Given the description of an element on the screen output the (x, y) to click on. 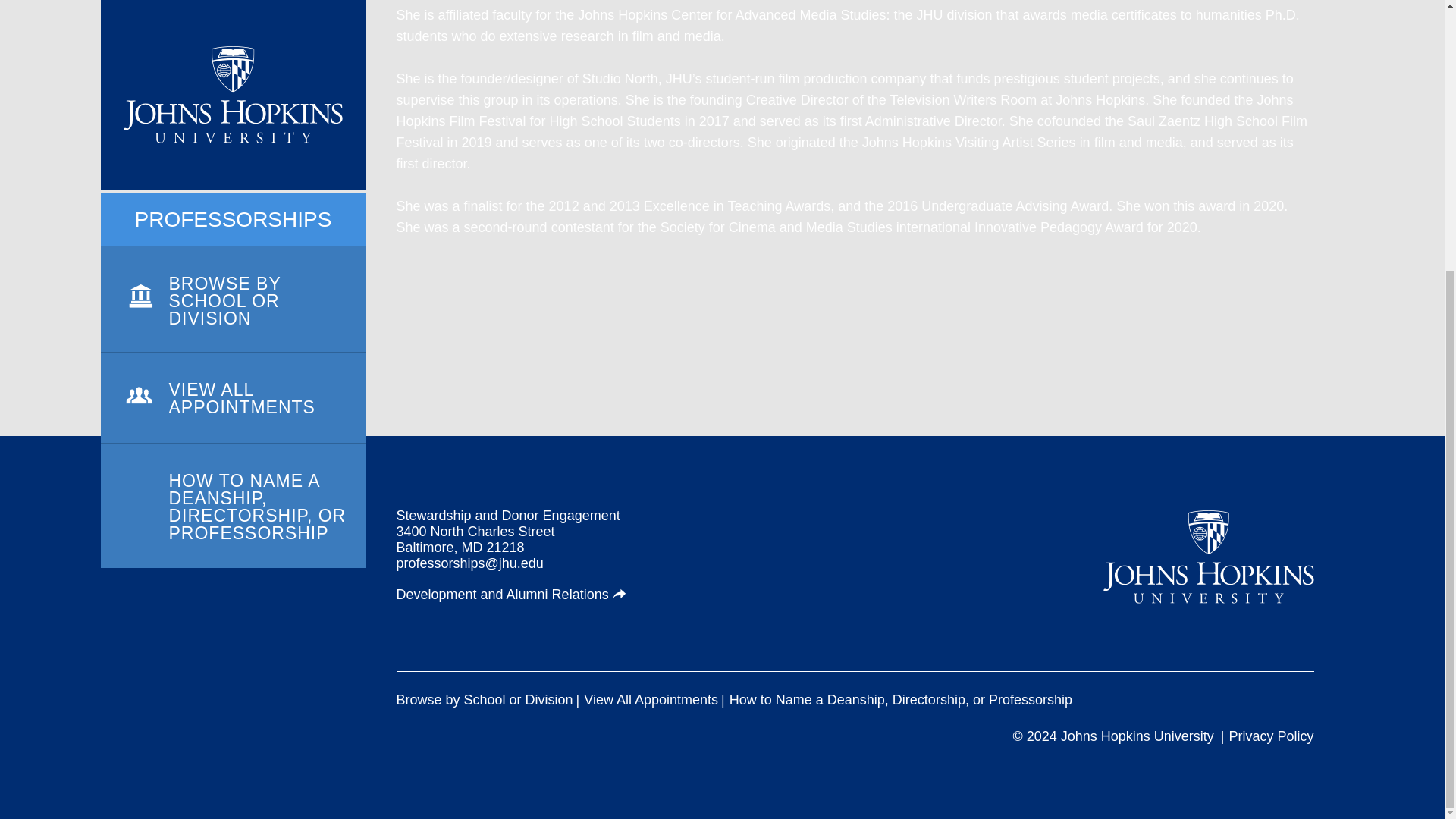
HOW TO NAME A DEANSHIP, DIRECTORSHIP, OR PROFESSORSHIP (232, 107)
Browse by School or Division (484, 699)
Development and Alumni Relations (511, 594)
View All Appointments (650, 699)
Privacy Policy (1270, 735)
VIEW ALL APPOINTMENTS (232, 22)
How to Name a Deanship, Directorship, or Professorship (900, 699)
JHU Professorships (1208, 556)
